Given the description of an element on the screen output the (x, y) to click on. 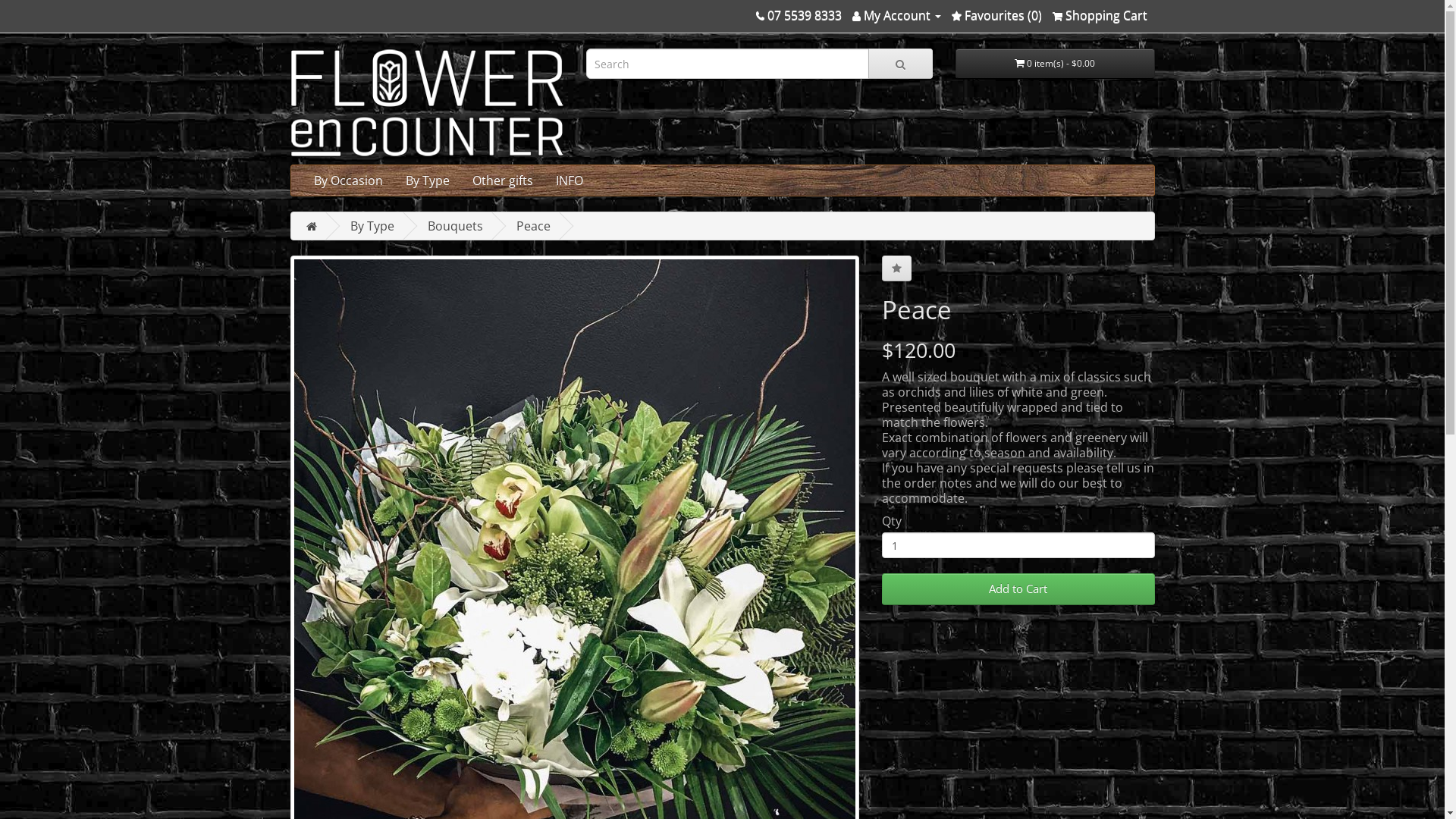
0 item(s) - $0.00 Element type: text (1054, 63)
By Type Element type: text (372, 225)
07 5539 8333 Element type: text (797, 14)
Peace Element type: text (532, 225)
Favourites (0) Element type: text (995, 14)
Other gifts Element type: text (502, 180)
By Type Element type: text (427, 180)
My Account Element type: text (896, 14)
Add to Cart Element type: text (1017, 589)
Bouquets Element type: text (455, 225)
By Occasion Element type: text (347, 180)
Shopping Cart Element type: text (1099, 14)
Flower en Counter Element type: hover (425, 102)
INFO Element type: text (569, 180)
